Given the description of an element on the screen output the (x, y) to click on. 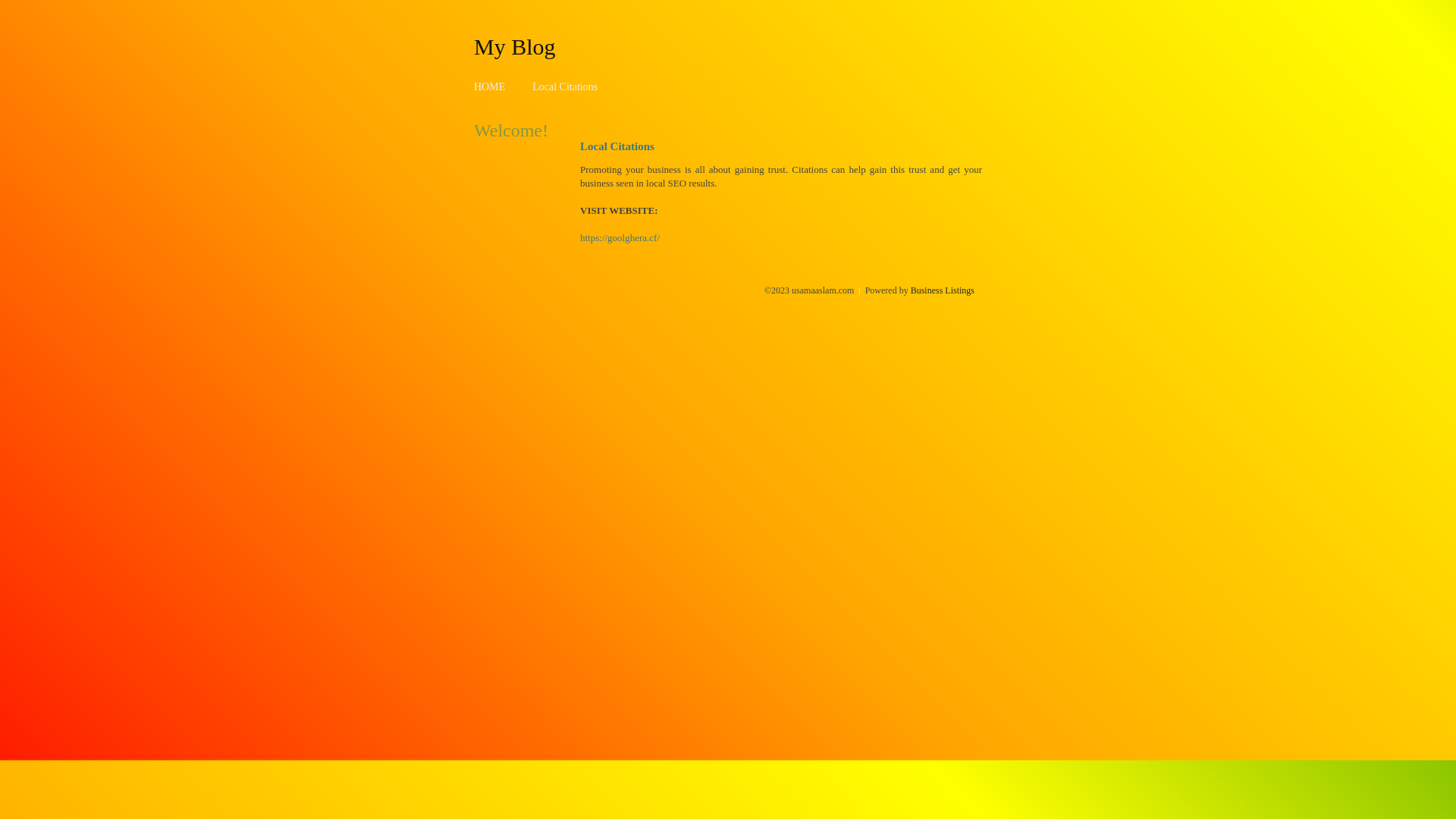
Local Citations Element type: text (564, 86)
My Blog Element type: text (514, 46)
Business Listings Element type: text (942, 290)
HOME Element type: text (489, 86)
https://goolghera.cf/ Element type: text (619, 237)
